Given the description of an element on the screen output the (x, y) to click on. 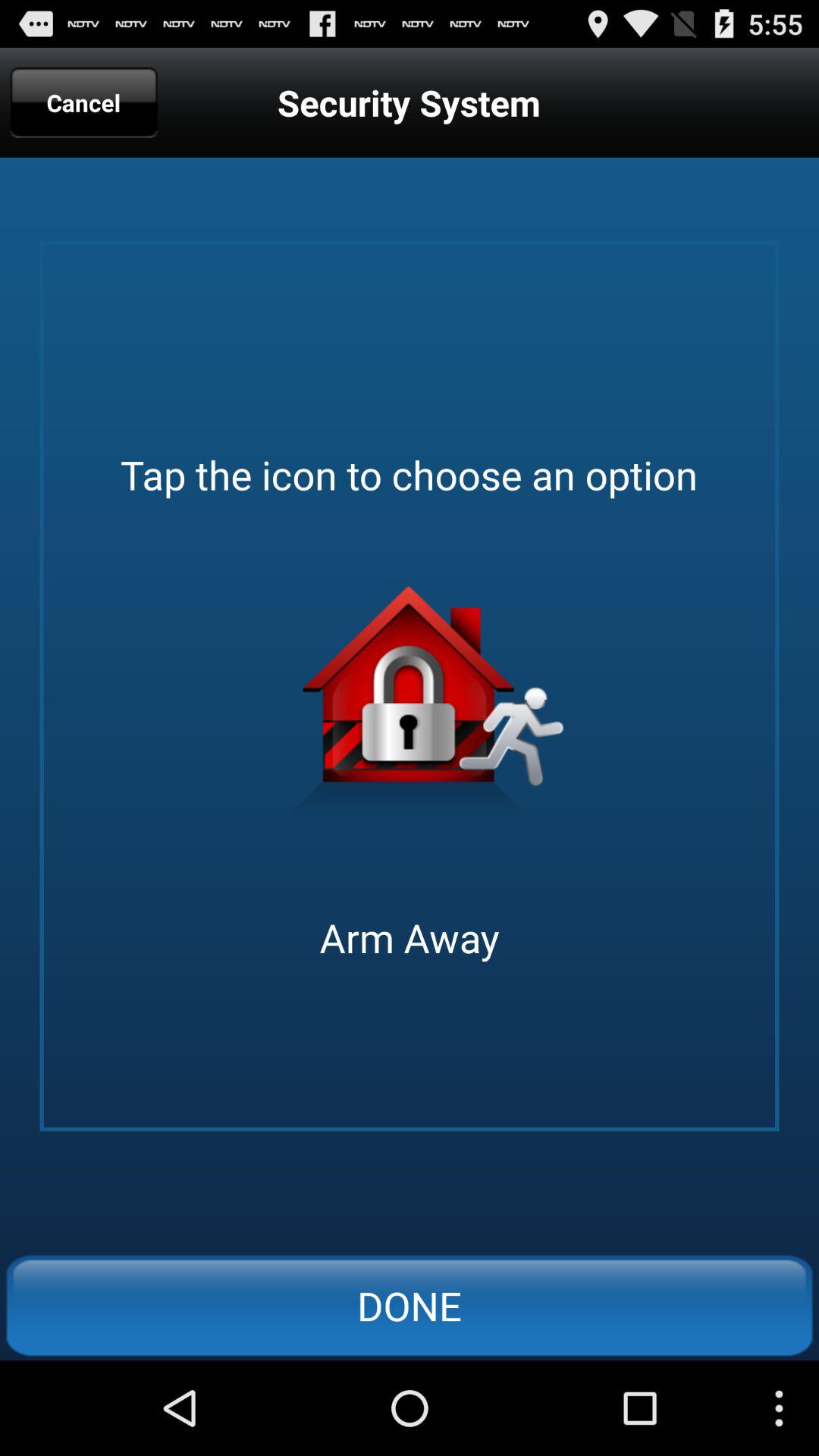
arm away option (409, 707)
